Given the description of an element on the screen output the (x, y) to click on. 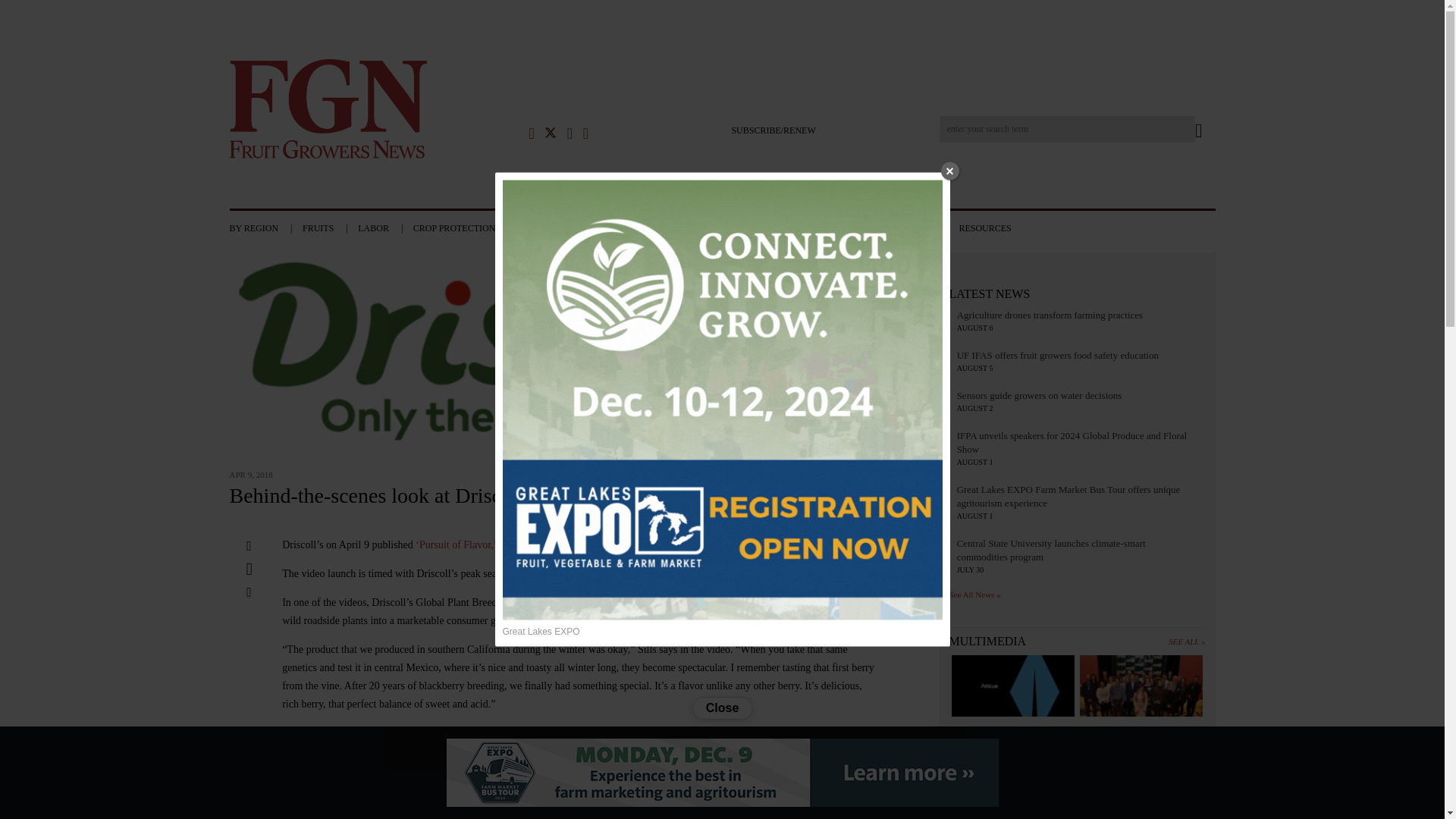
FRUITS (328, 227)
TECHNOLOGY (676, 227)
CROP PROTECTION (464, 227)
LABOR (384, 227)
BY REGION (263, 227)
CROP MANAGEMENT (575, 227)
